Given the description of an element on the screen output the (x, y) to click on. 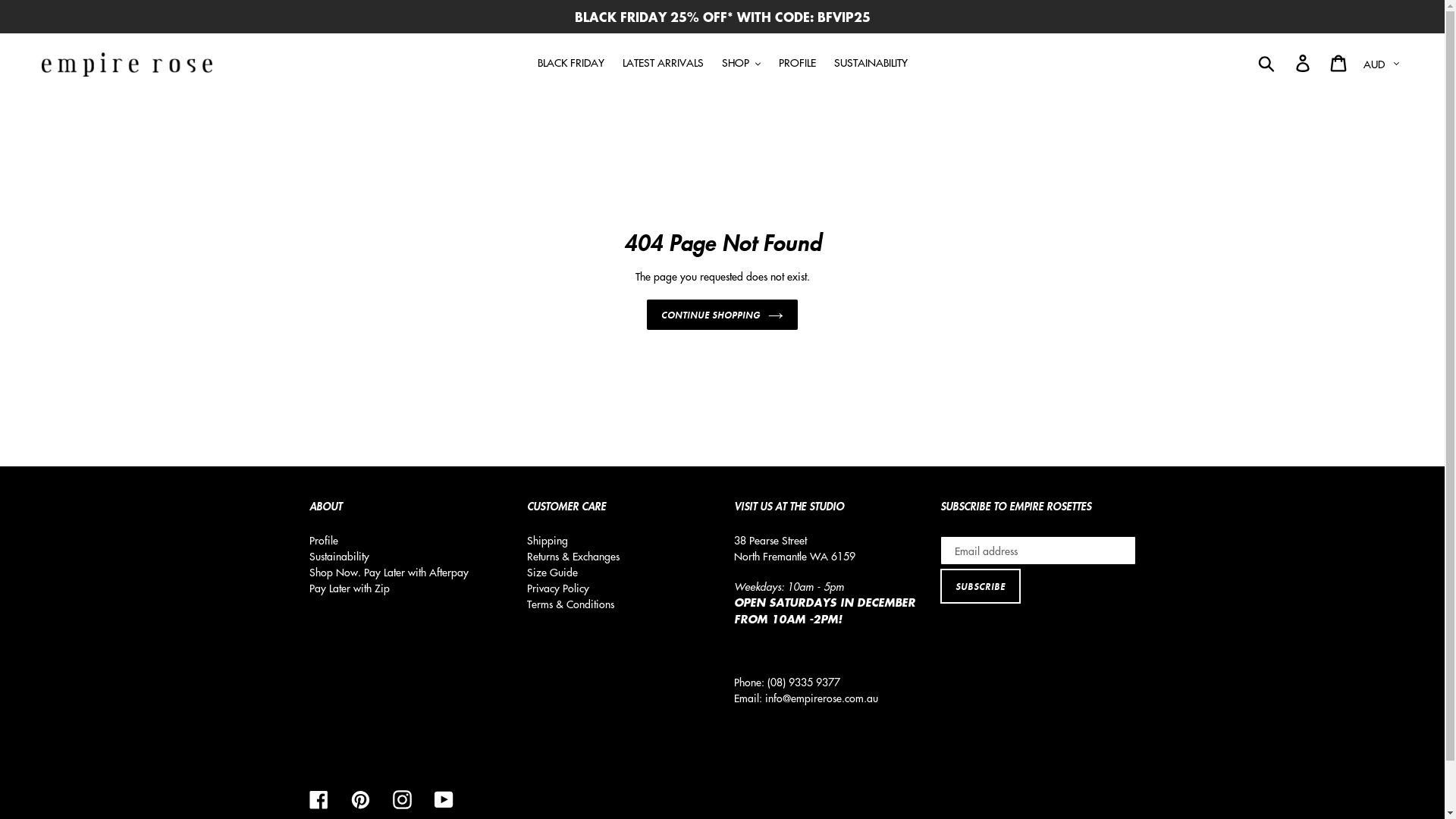
BLACK FRIDAY 25% OFF* WITH CODE: BFVIP25 Element type: text (722, 16)
Size Guide Element type: text (552, 571)
Pay Later with Zip Element type: text (349, 587)
Cart Element type: text (1339, 61)
Log in Element type: text (1303, 61)
Shipping Element type: text (547, 539)
BLACK FRIDAY Element type: text (570, 62)
CONTINUE SHOPPING Element type: text (721, 314)
LATEST ARRIVALS Element type: text (662, 62)
Shop Now. Pay Later with Afterpay Element type: text (388, 571)
Pinterest Element type: text (359, 799)
YouTube Element type: text (442, 799)
Returns & Exchanges Element type: text (573, 555)
Instagram Element type: text (401, 799)
PROFILE Element type: text (796, 62)
Privacy Policy Element type: text (558, 587)
Facebook Element type: text (318, 799)
Sustainability Element type: text (339, 555)
Profile Element type: text (323, 539)
Terms & Conditions Element type: text (570, 603)
SUBSCRIBE Element type: text (980, 585)
Submit Element type: text (1267, 61)
info@empirerose.com.au Element type: text (820, 697)
SUSTAINABILITY Element type: text (870, 62)
